Given the description of an element on the screen output the (x, y) to click on. 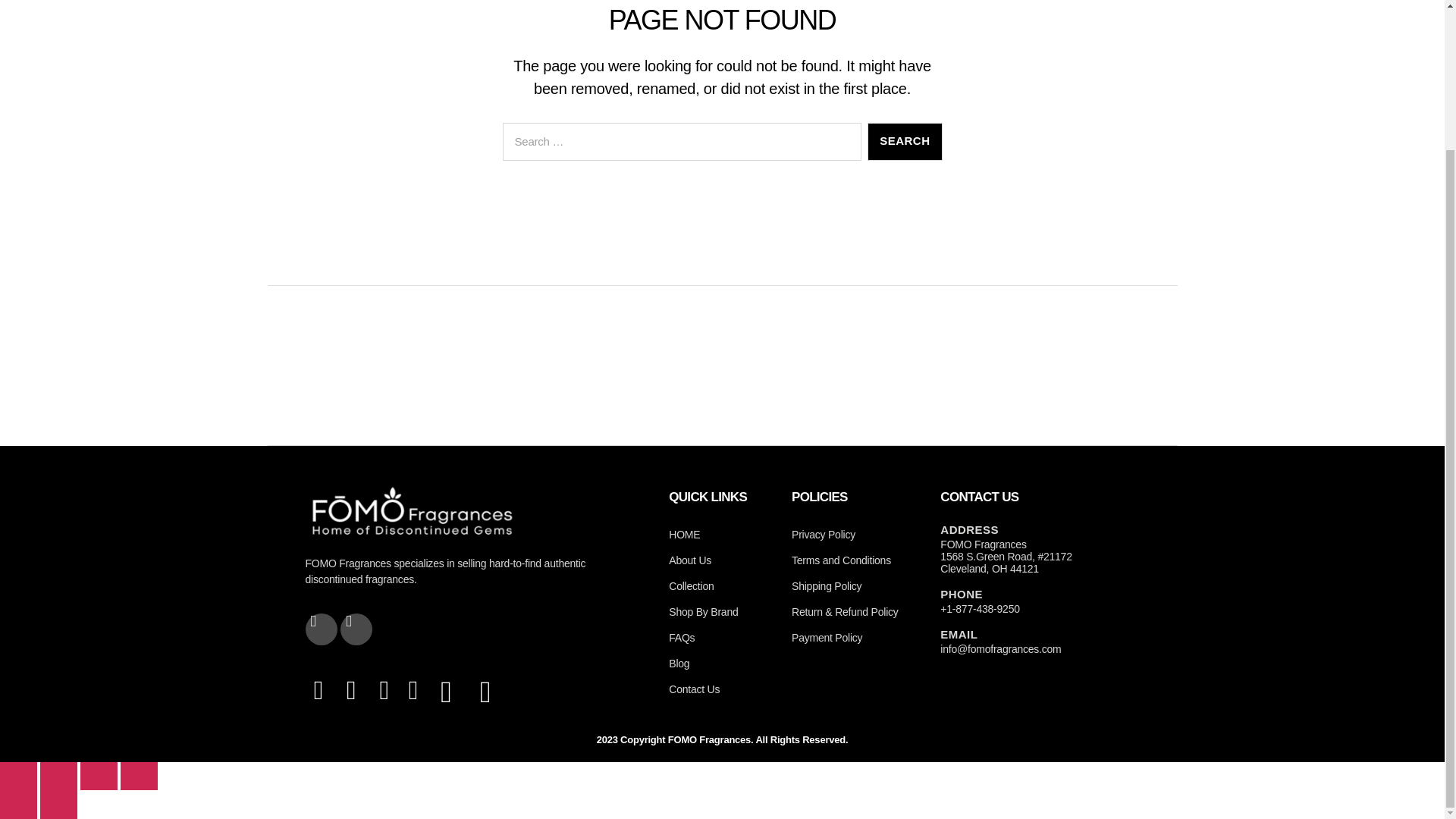
About Us (722, 560)
Search (904, 141)
Search (904, 141)
Collection (722, 585)
Shop By Brand (722, 611)
Search (904, 141)
HOME (722, 534)
